Given the description of an element on the screen output the (x, y) to click on. 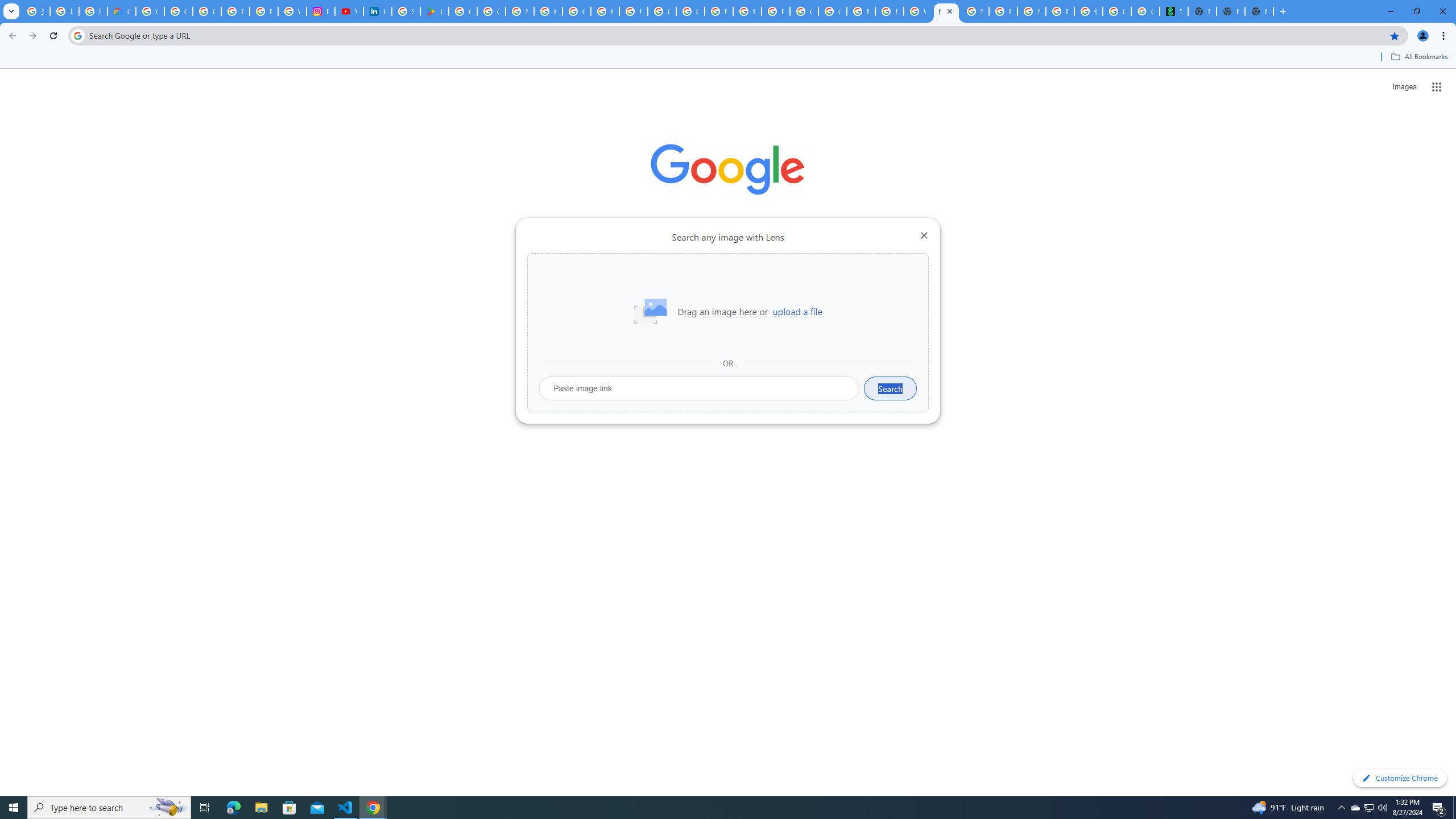
Browse Chrome as a guest - Computer - Google Chrome Help (860, 11)
Privacy Help Center - Policies Help (263, 11)
YouTube Culture & Trends - On The Rise: Handcam Videos (349, 11)
